Given the description of an element on the screen output the (x, y) to click on. 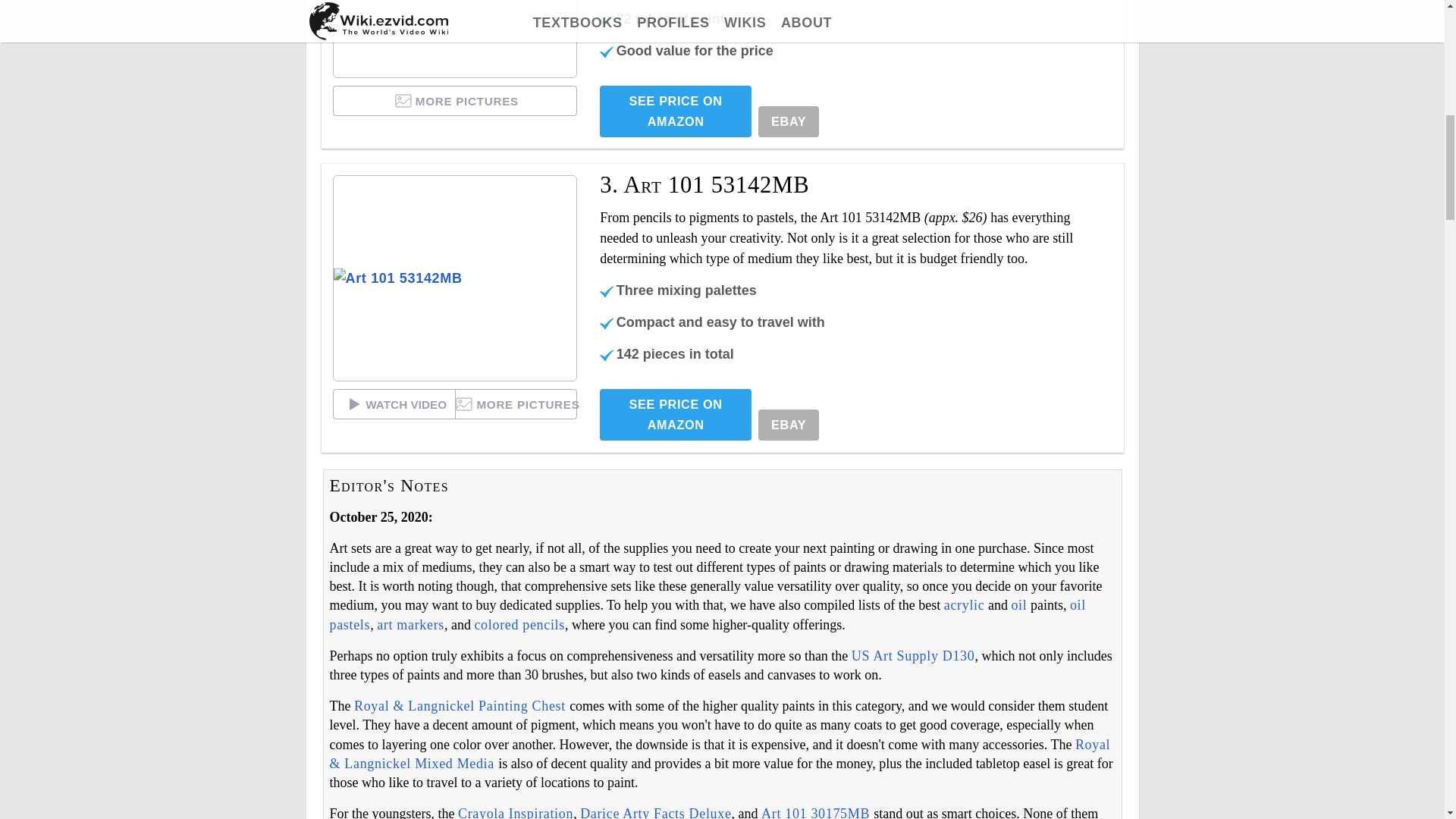
MORE PICTURES (454, 100)
